Given the description of an element on the screen output the (x, y) to click on. 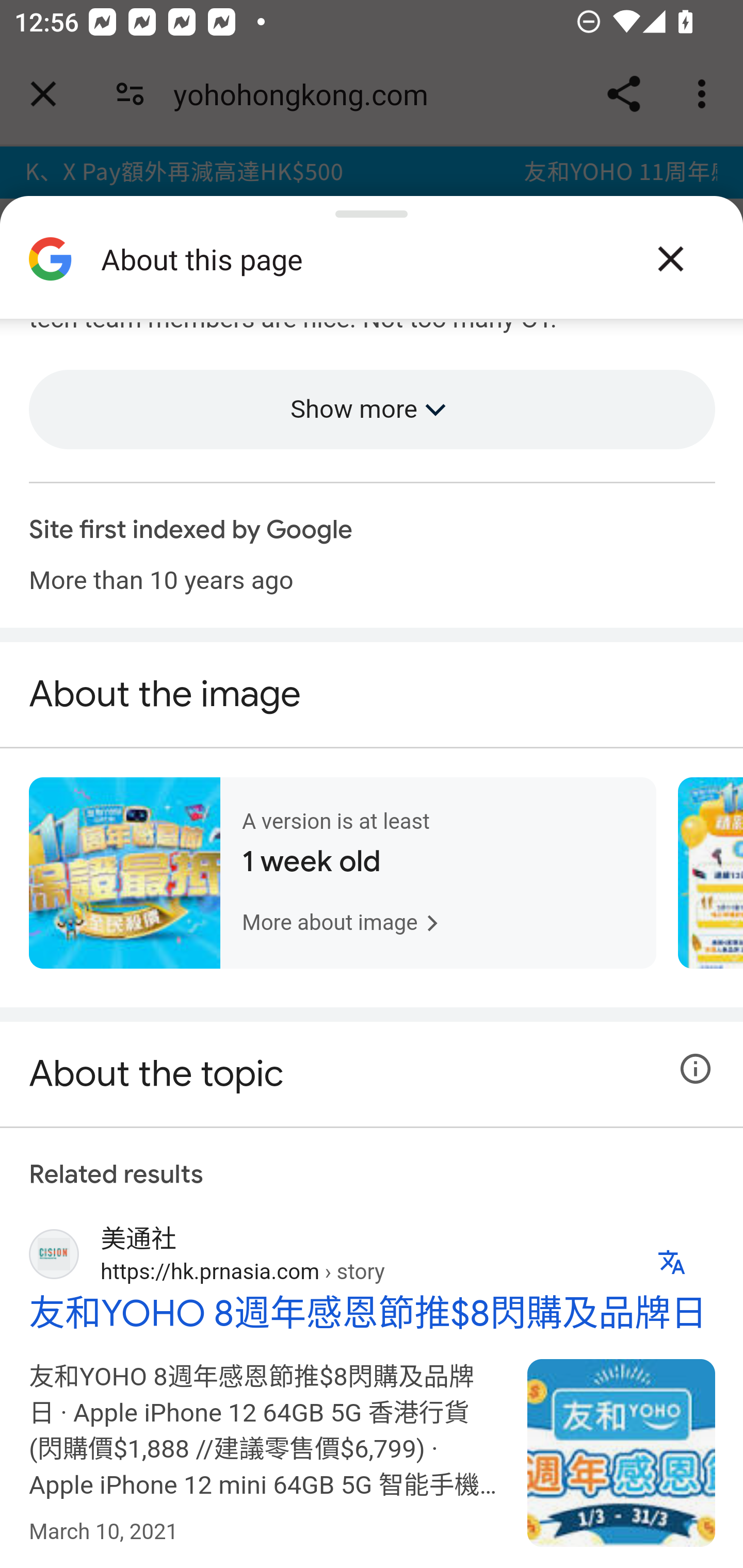
About this page Close (371, 266)
Close (670, 259)
Show more (372, 410)
Support about the topic (695, 1070)
友和YOHO 8週年感恩節推$8閃購及品牌日 (621, 1453)
